Given the description of an element on the screen output the (x, y) to click on. 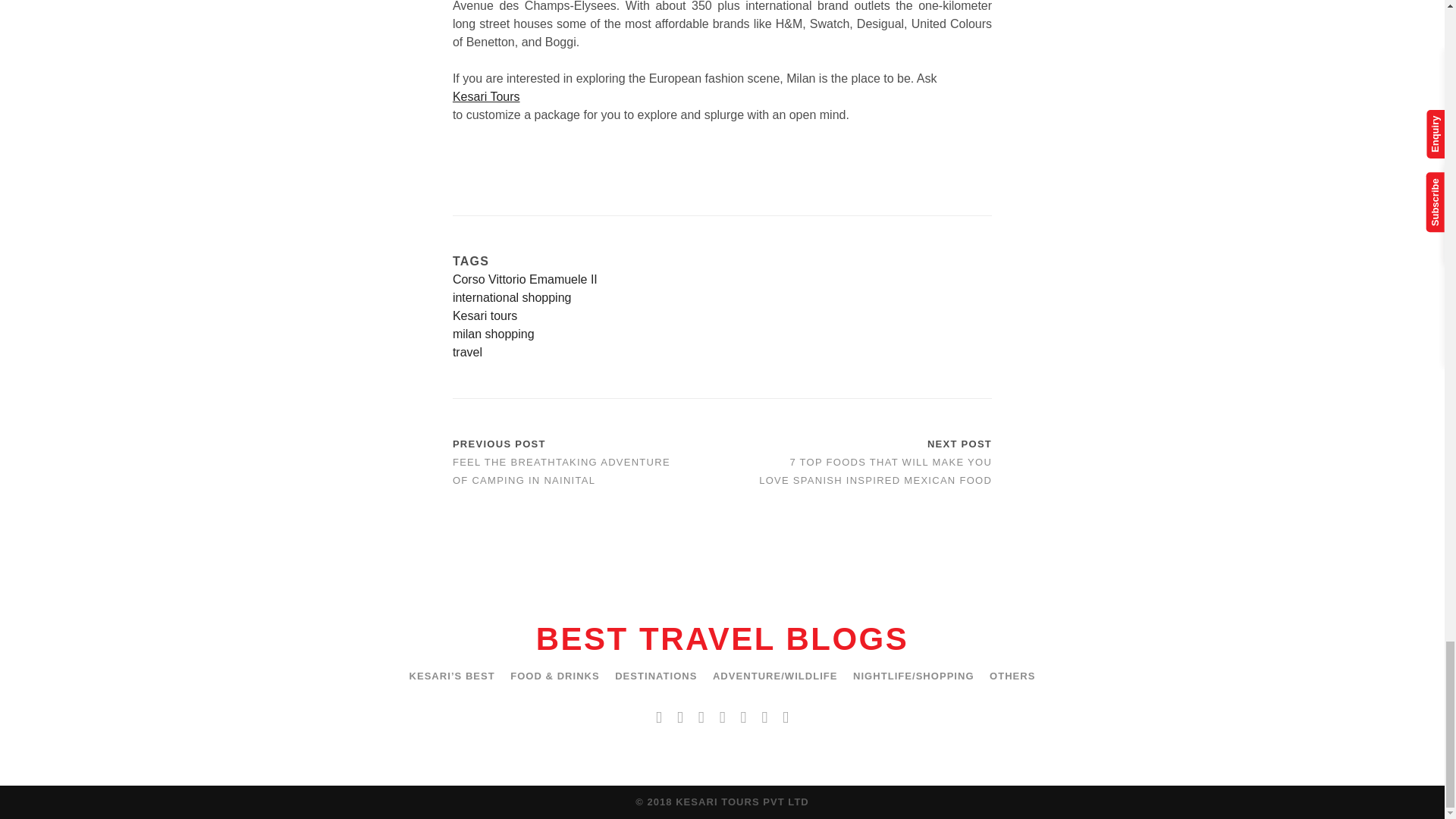
milan shopping (721, 334)
Kesari tours (721, 316)
Kesari Tours (721, 96)
Corso Vittorio Emamuele II (721, 280)
international shopping (721, 298)
